Given the description of an element on the screen output the (x, y) to click on. 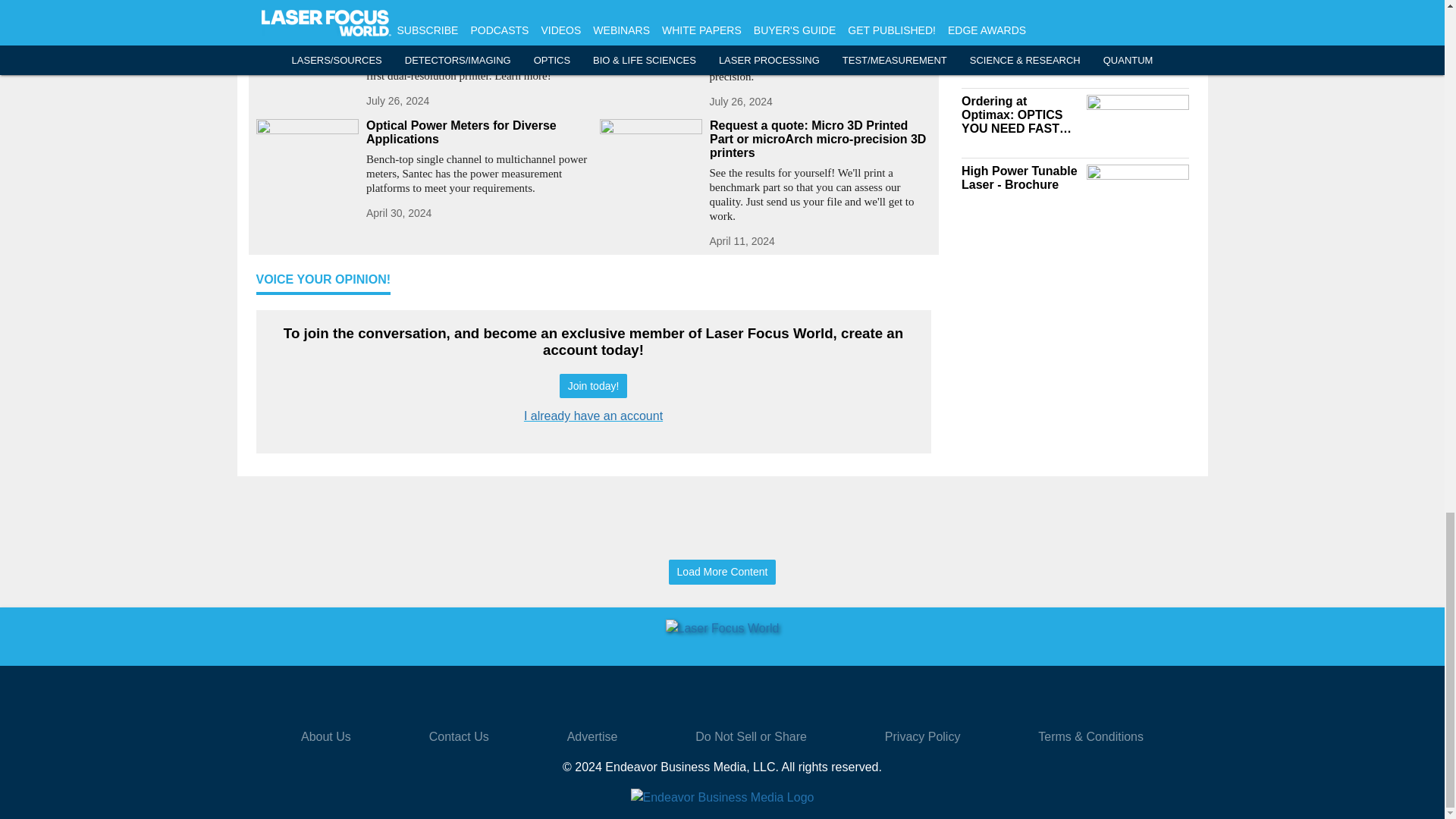
Optical Power Meters for Diverse Applications (476, 132)
Join today! (593, 385)
